Given the description of an element on the screen output the (x, y) to click on. 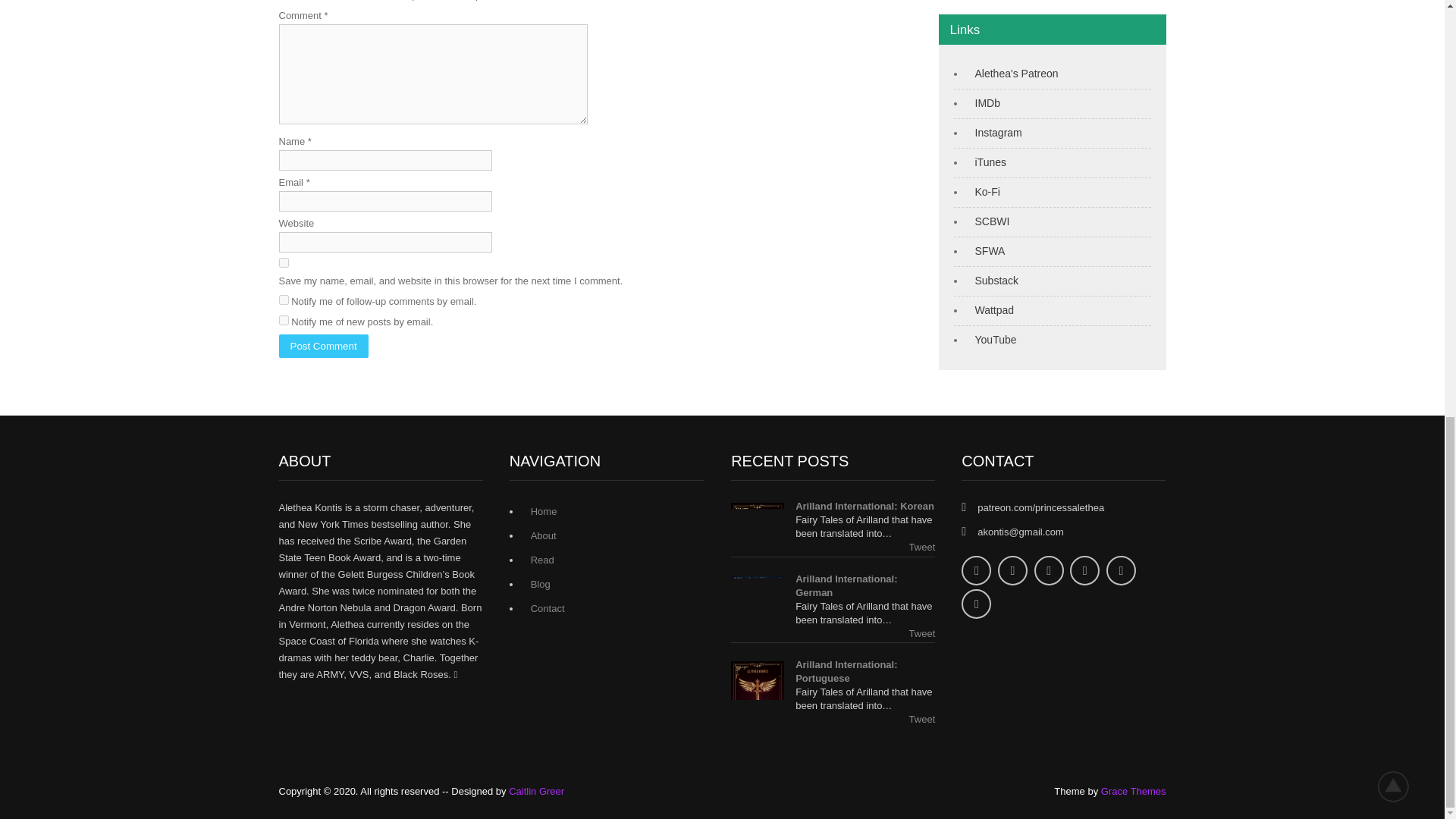
yes (283, 262)
Science Fiction Writers of America (987, 250)
subscribe (283, 299)
subscribe (283, 320)
Post Comment (323, 345)
